Given the description of an element on the screen output the (x, y) to click on. 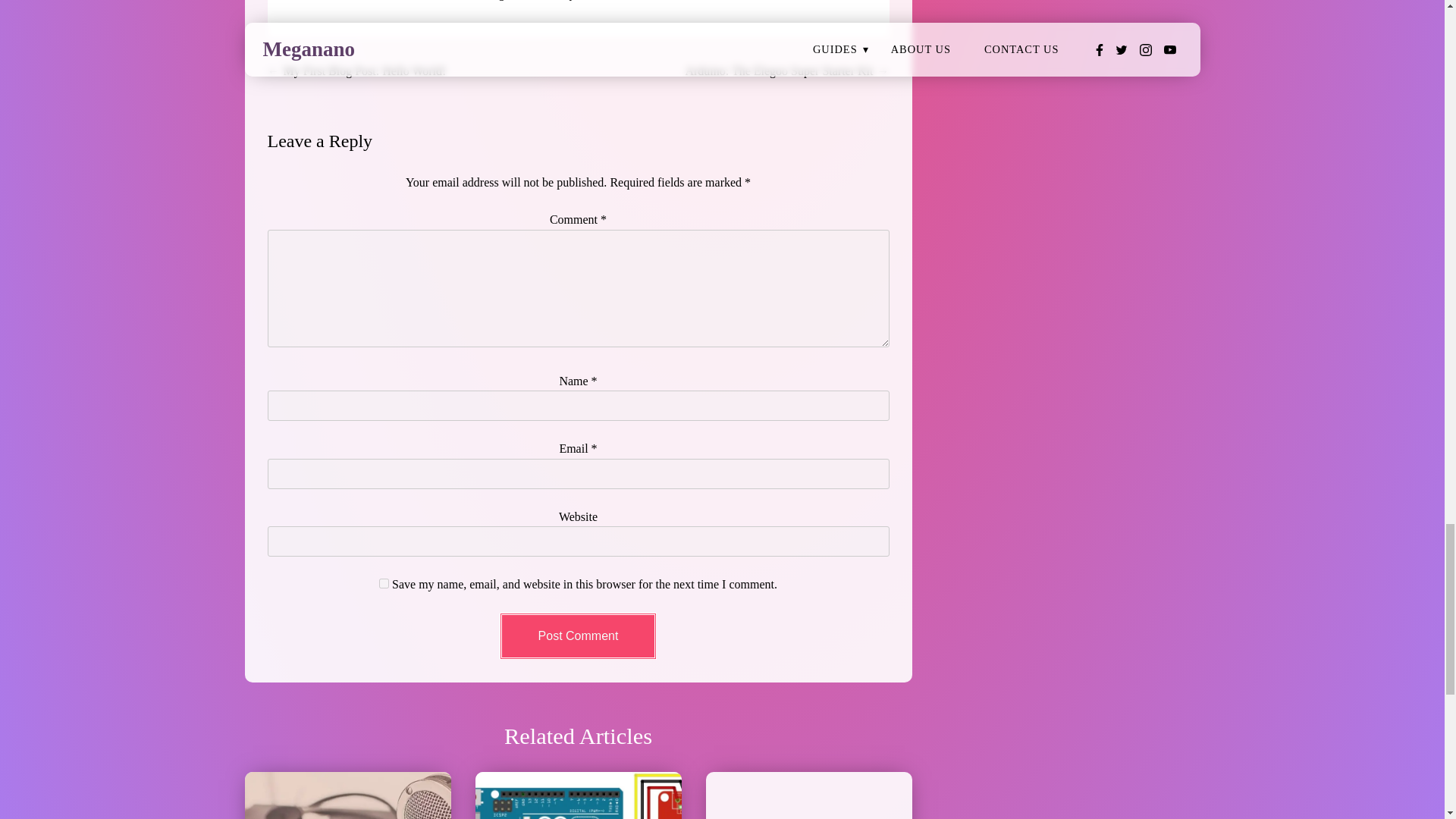
Post Comment (578, 636)
My First Blog Post: Hello World! (364, 70)
Arduino: The Elegoo Super Starter Kit (778, 70)
Post Comment (578, 636)
yes (383, 583)
